Given the description of an element on the screen output the (x, y) to click on. 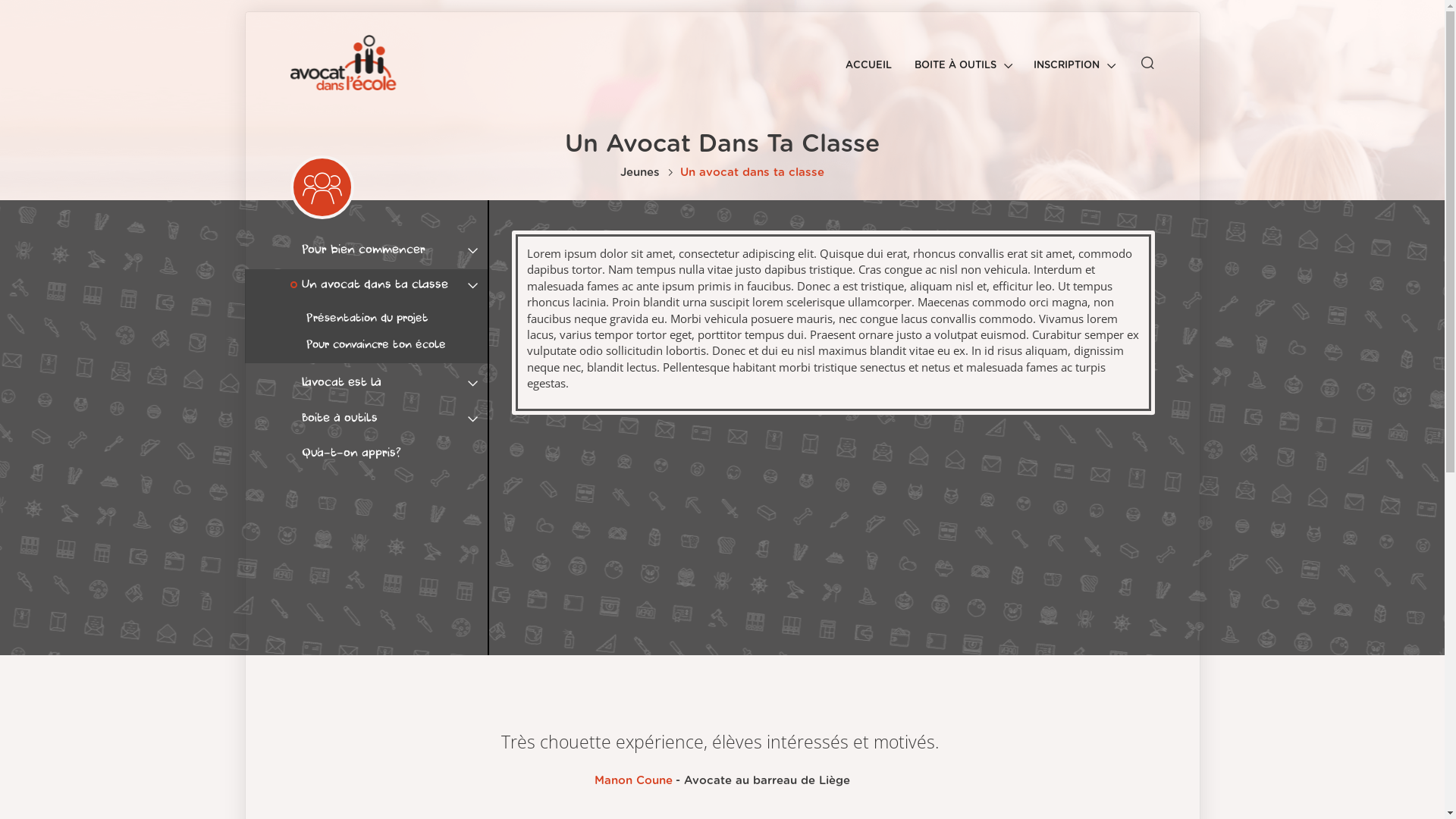
INSCRIPTION Element type: text (1073, 57)
Accueil Element type: hover (348, 62)
ACCUEIL Element type: text (868, 57)
Jeunes Element type: text (639, 172)
Rechercher Element type: text (833, 98)
Un avocat dans ta classe Element type: text (388, 284)
Qu'a-t-on appris? Element type: text (388, 452)
Aller au contenu principal Element type: text (0, 0)
Pour bien commencer Element type: text (388, 249)
